Given the description of an element on the screen output the (x, y) to click on. 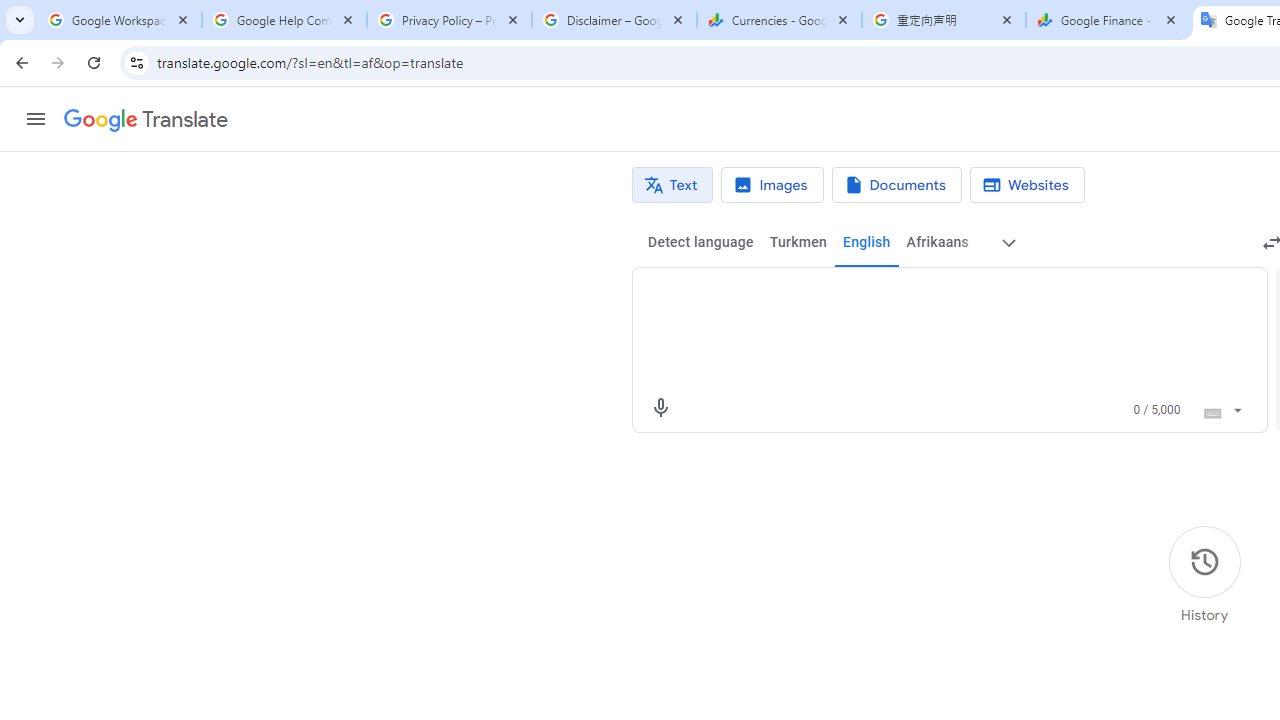
Image translation (772, 185)
More source languages (1008, 242)
Google Translate (145, 120)
History (1204, 575)
Document translation (896, 185)
Website translation (1026, 185)
